Given the description of an element on the screen output the (x, y) to click on. 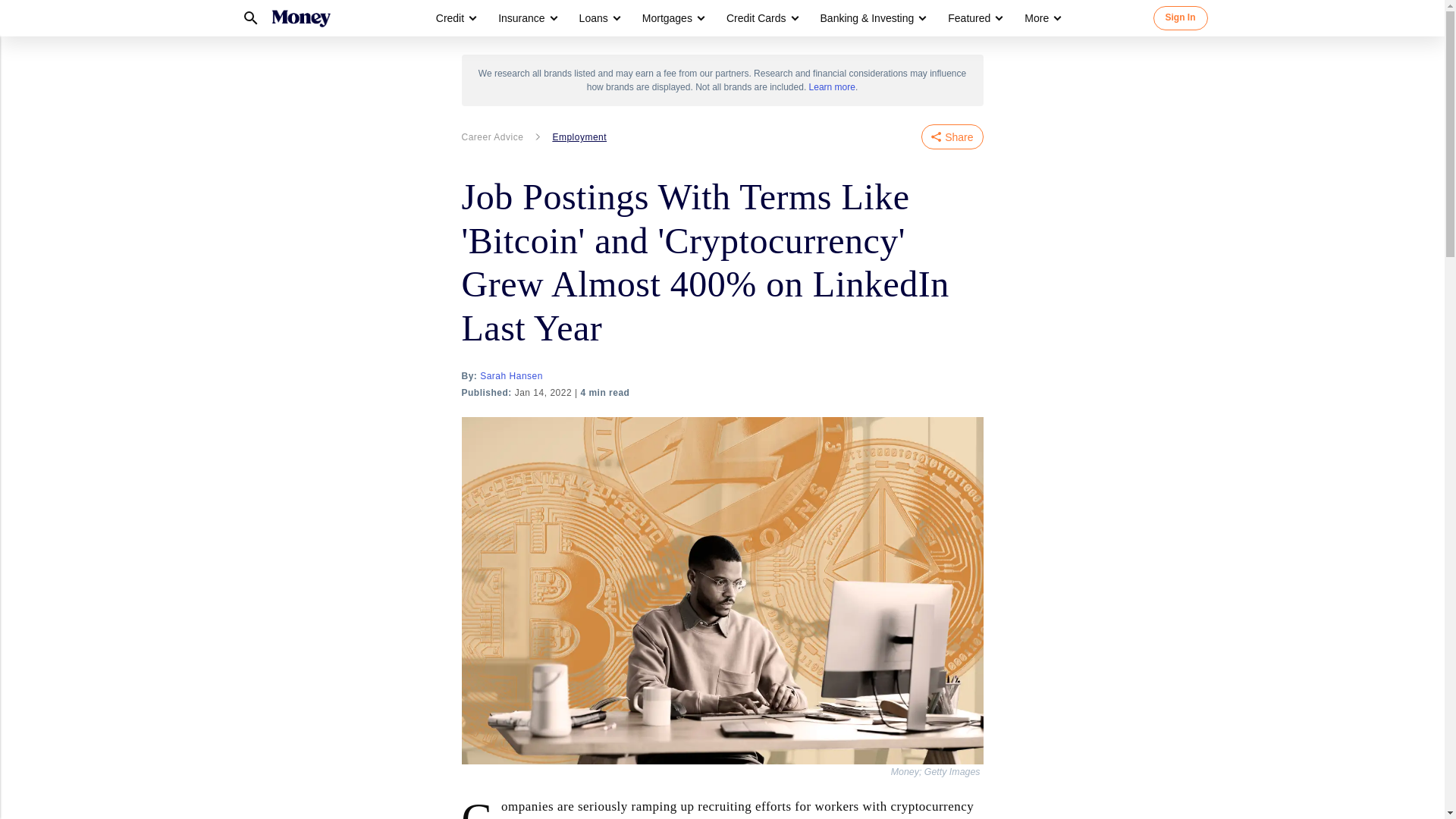
Credit Cards (756, 18)
Loans (598, 18)
Insurance (520, 18)
Credit Cards (761, 18)
Credit (449, 18)
Insurance (526, 18)
Credit (455, 18)
Mortgages (672, 18)
Mortgages (667, 18)
Loans (593, 18)
